Given the description of an element on the screen output the (x, y) to click on. 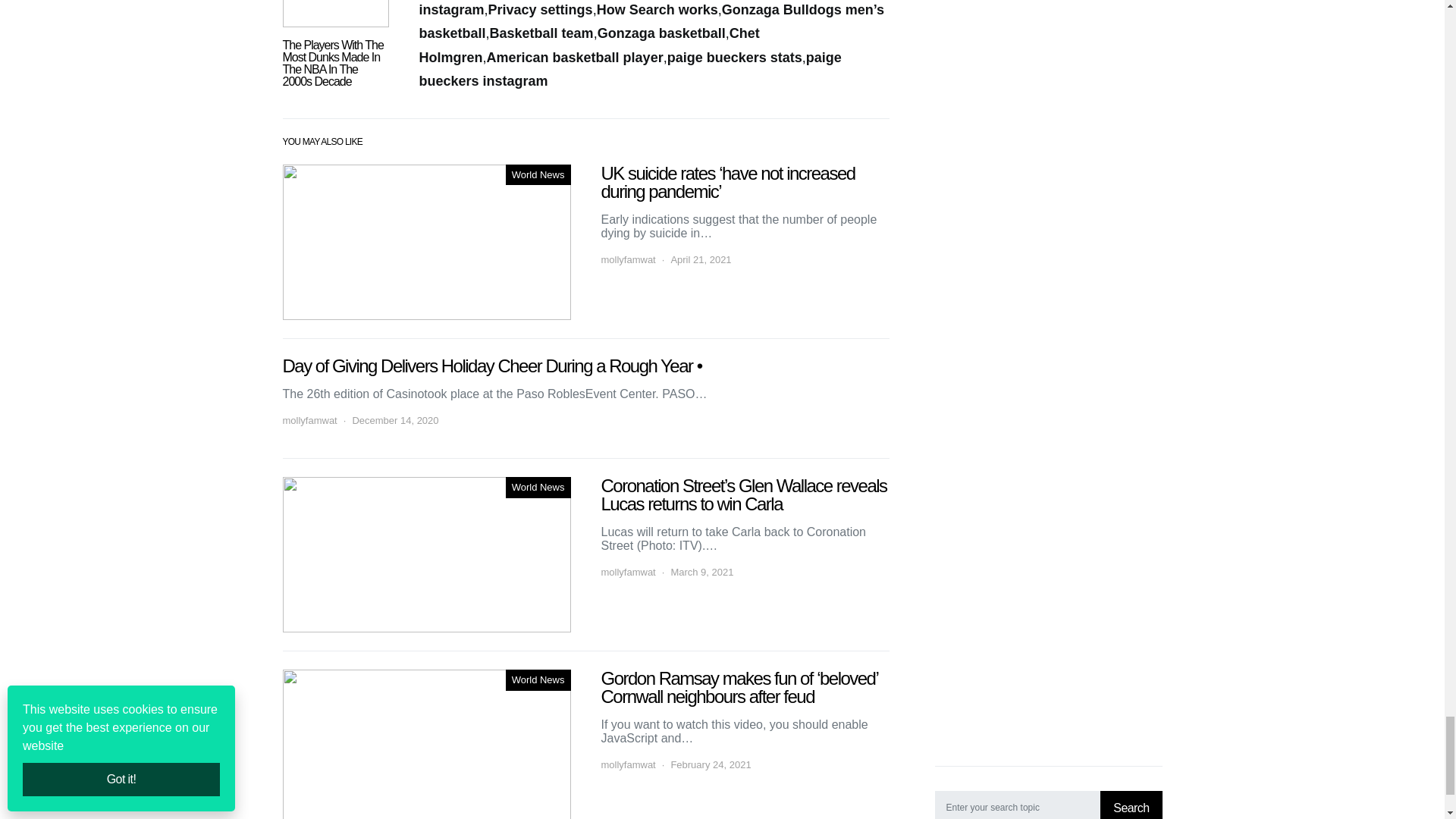
View all posts by mollyfamwat (309, 420)
View all posts by mollyfamwat (627, 765)
View all posts by mollyfamwat (627, 572)
View all posts by mollyfamwat (627, 258)
